Given the description of an element on the screen output the (x, y) to click on. 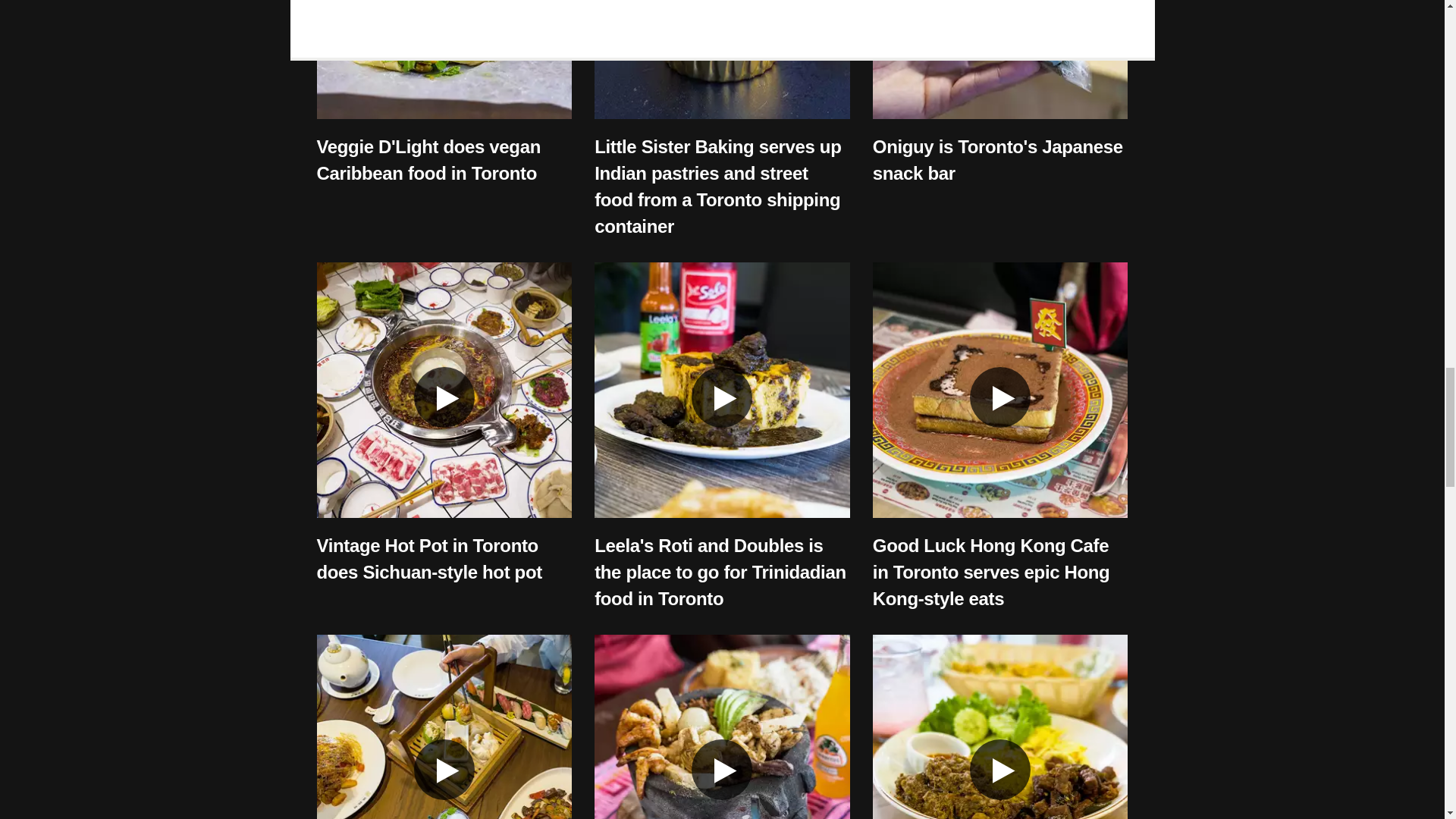
Veggie D'Light does vegan Caribbean food in Toronto (428, 159)
